Given the description of an element on the screen output the (x, y) to click on. 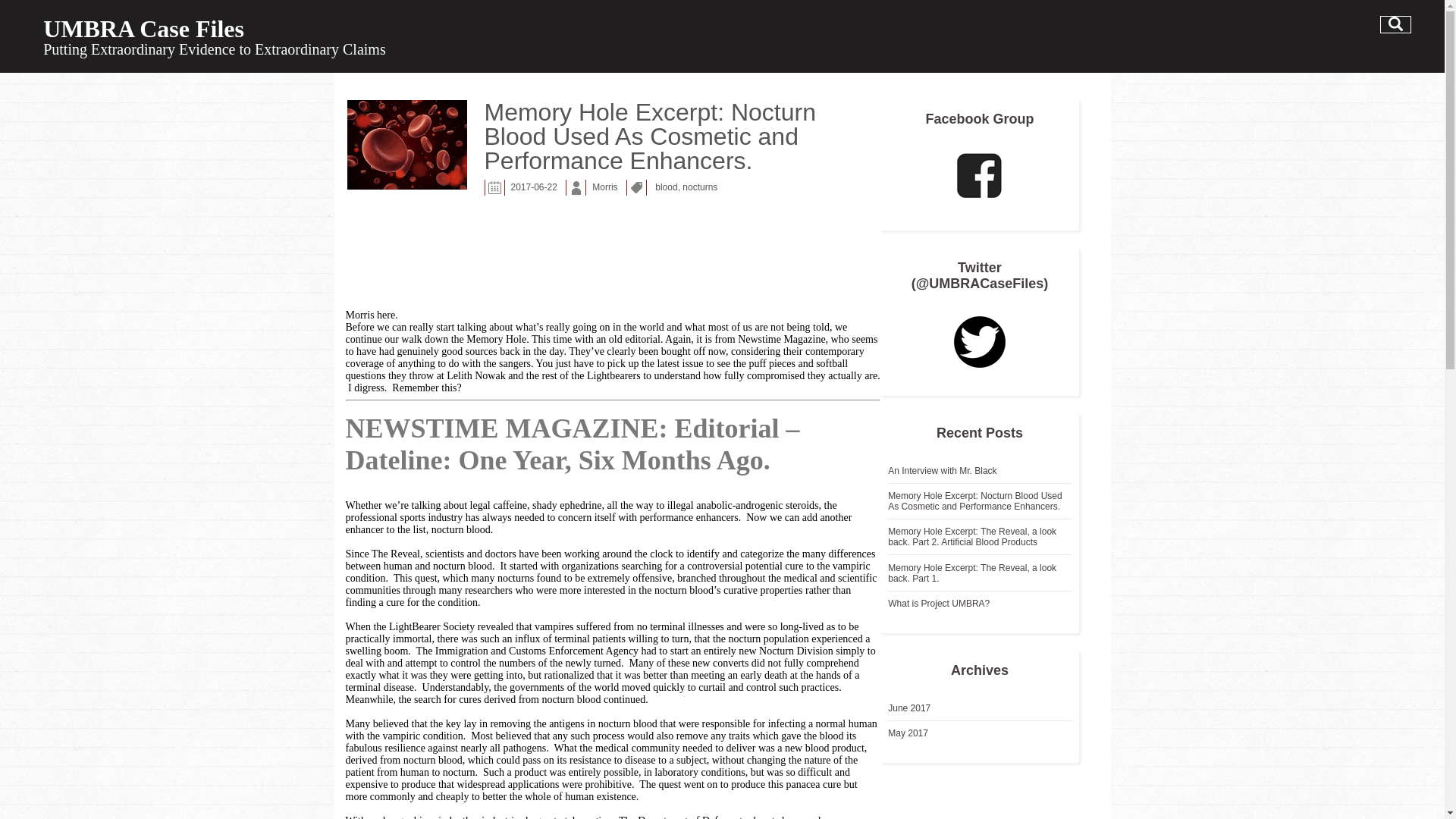
Memory Hole Excerpt: The Reveal, a look back. Part 1. (972, 572)
An Interview with Mr. Black (941, 470)
May 2017 (908, 733)
June 2017 (909, 707)
Posts by Morris (604, 189)
2017-06-22 (534, 189)
blood (666, 189)
Morris (604, 189)
What is Project UMBRA? (939, 603)
nocturns (699, 189)
Search for: (1395, 24)
